Given the description of an element on the screen output the (x, y) to click on. 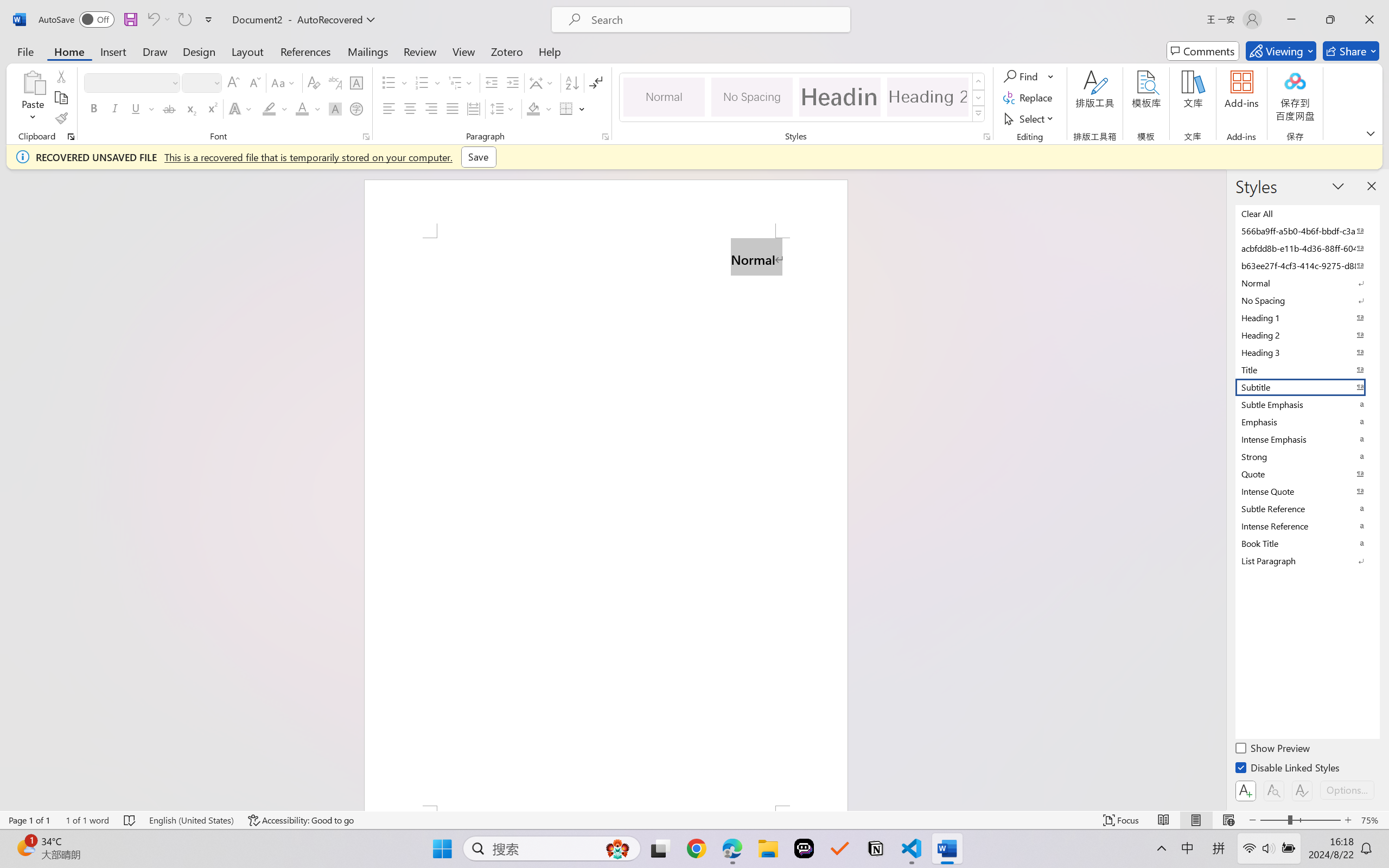
Shading RGB(0, 0, 0) (533, 108)
Align Right (431, 108)
Help (549, 51)
Can't Undo (158, 19)
AutomationID: QuickStylesGallery (802, 97)
Microsoft search (715, 19)
